Given the description of an element on the screen output the (x, y) to click on. 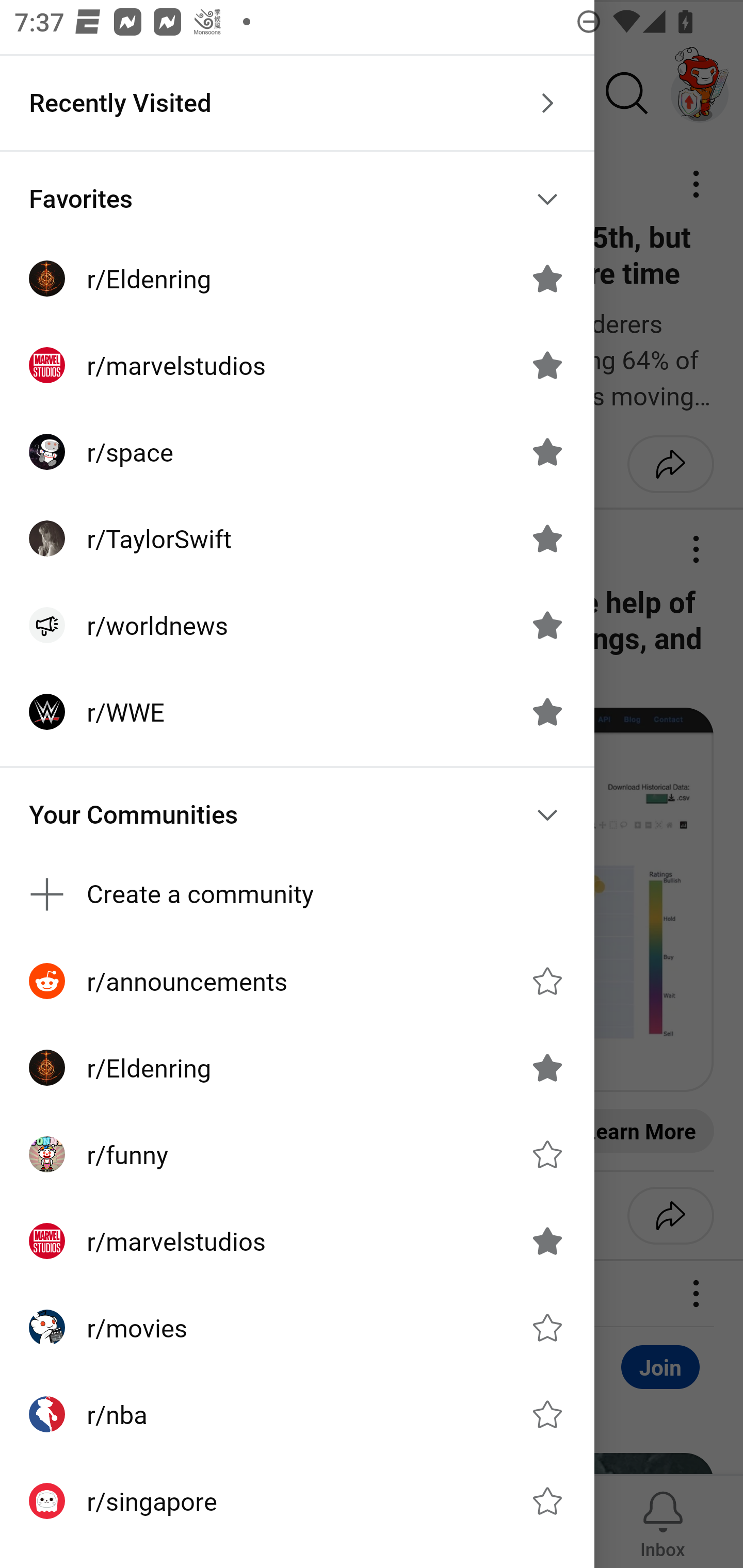
Recently Visited (297, 103)
Favorites (297, 199)
r/Eldenring Unfavorite r/Eldenring (297, 278)
Unfavorite r/Eldenring (546, 278)
r/marvelstudios Unfavorite r/marvelstudios (297, 365)
Unfavorite r/marvelstudios (546, 365)
r/space Unfavorite r/space (297, 452)
Unfavorite r/space (546, 451)
r/TaylorSwift Unfavorite r/TaylorSwift (297, 538)
Unfavorite r/TaylorSwift (546, 538)
r/worldnews Unfavorite r/worldnews (297, 624)
Unfavorite r/worldnews (546, 624)
r/WWE Unfavorite r/WWE (297, 711)
Unfavorite r/WWE (546, 711)
Your Communities (297, 815)
Create a community (297, 894)
r/announcements Favorite r/announcements (297, 980)
Favorite r/announcements (546, 980)
r/Eldenring Unfavorite r/Eldenring (297, 1067)
Unfavorite r/Eldenring (546, 1067)
r/funny Favorite r/funny (297, 1154)
Favorite r/funny (546, 1154)
r/marvelstudios Unfavorite r/marvelstudios (297, 1240)
Unfavorite r/marvelstudios (546, 1241)
r/movies Favorite r/movies (297, 1327)
Favorite r/movies (546, 1327)
r/nba Favorite r/nba (297, 1414)
Favorite r/nba (546, 1414)
r/singapore Favorite r/singapore (297, 1501)
Favorite r/singapore (546, 1501)
